Given the description of an element on the screen output the (x, y) to click on. 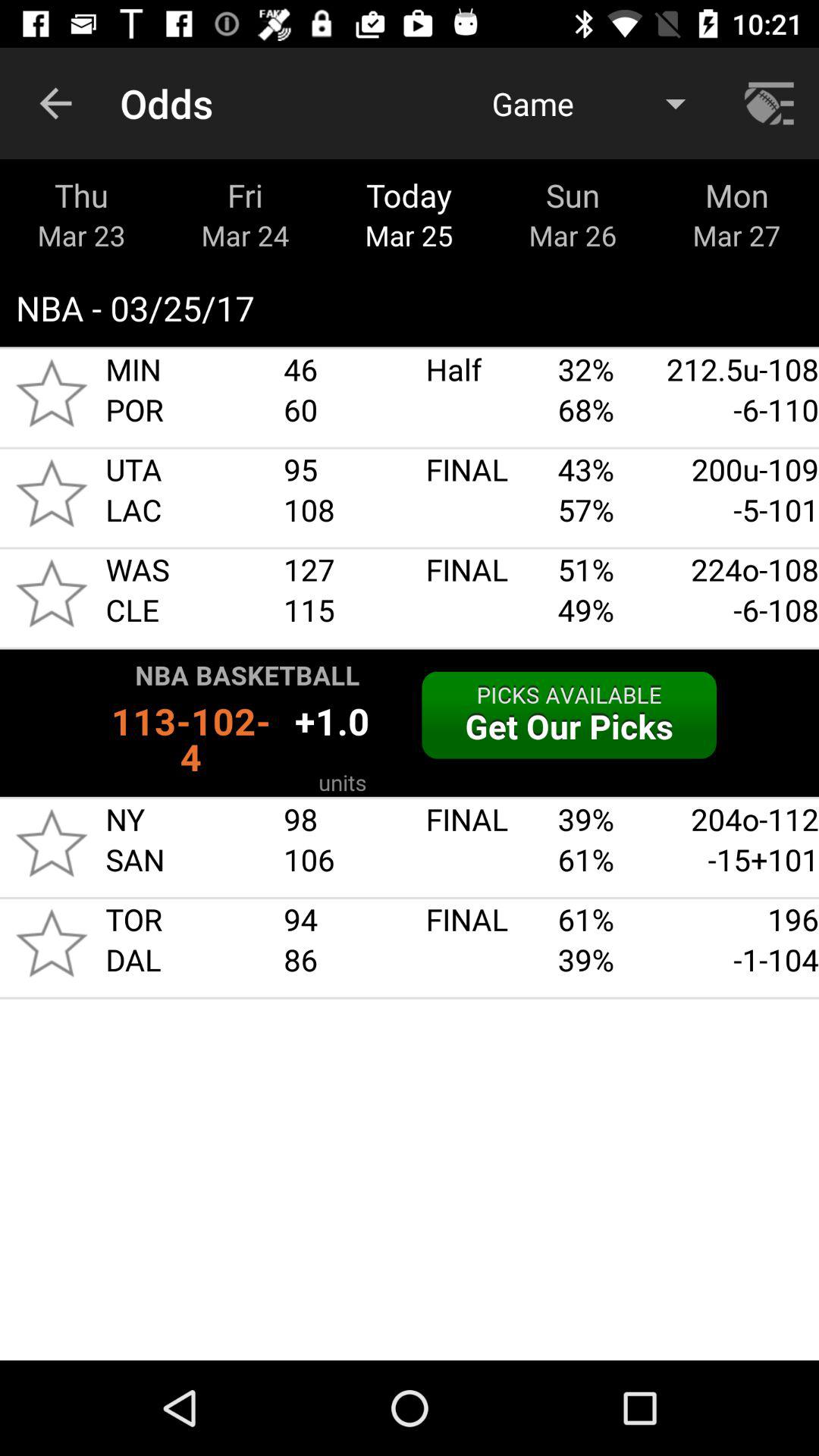
favorite the game score (51, 492)
